Given the description of an element on the screen output the (x, y) to click on. 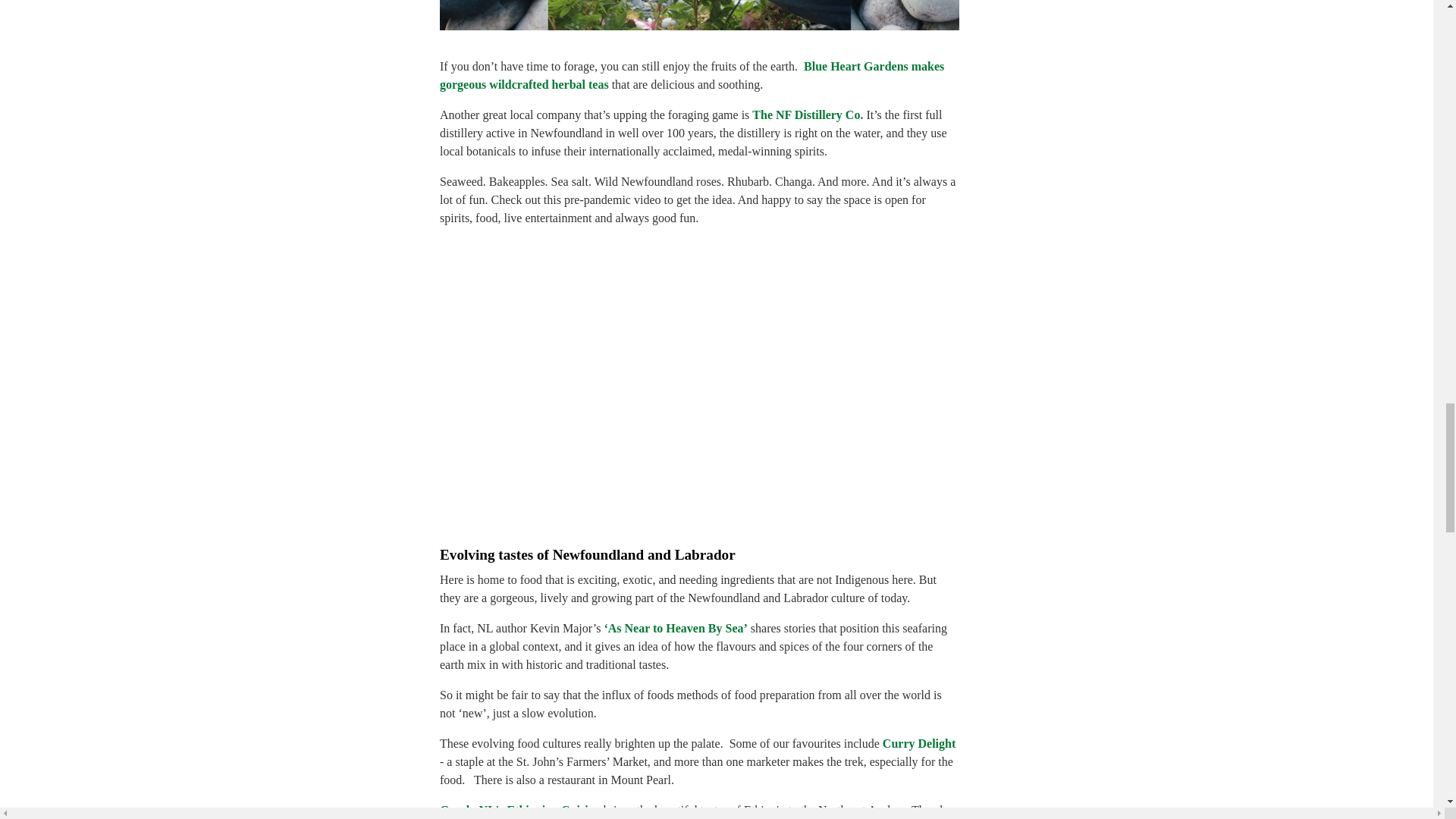
GurshaNL's Ethiopian Cuisine (519, 809)
Blue Heart Gardens makes gorgeous wildcrafted herbal teas (691, 74)
The NF Distillery Co. (807, 114)
Curry Delight (918, 743)
